Given the description of an element on the screen output the (x, y) to click on. 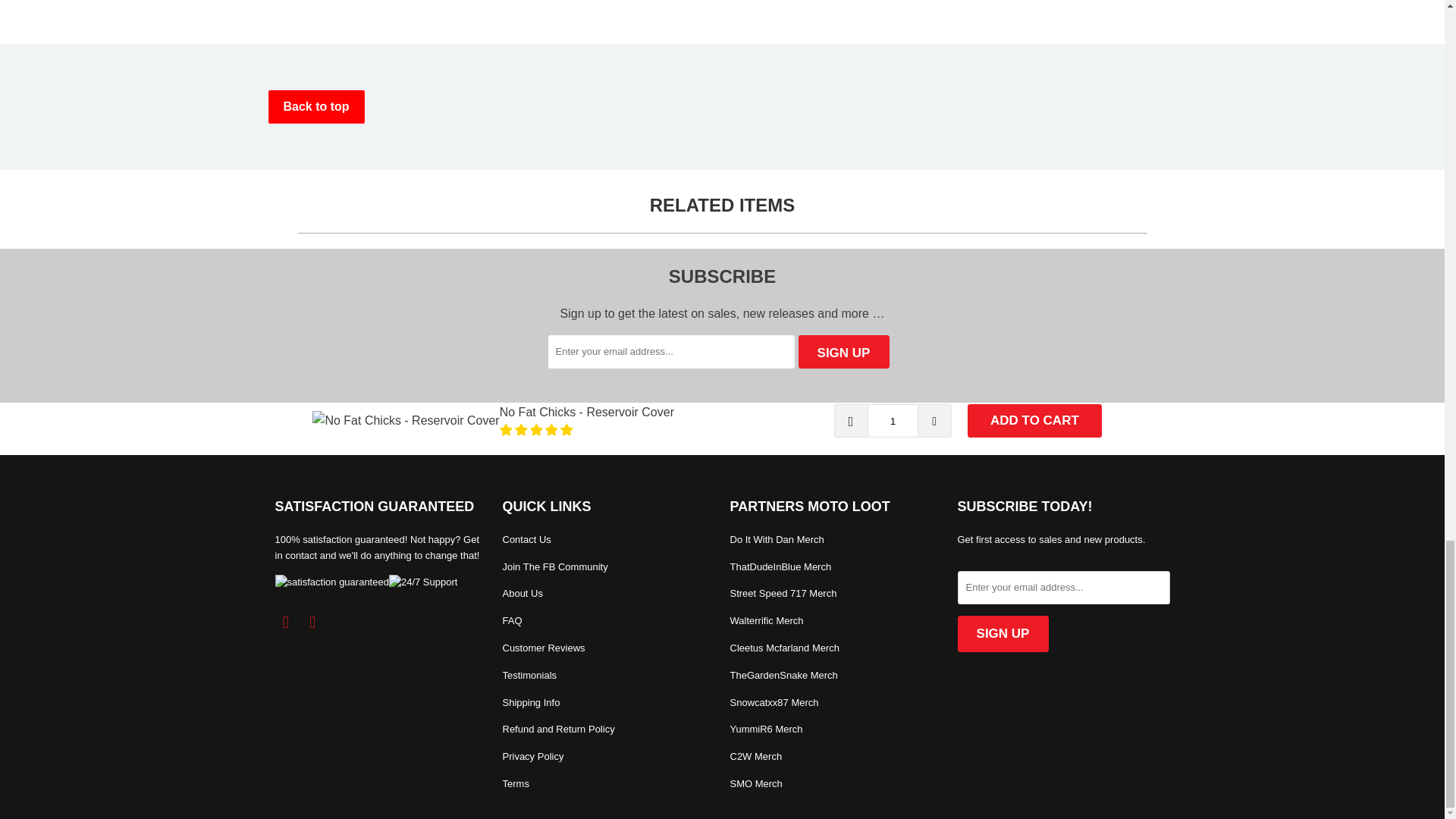
1 (892, 420)
Sign Up (1002, 633)
Sign Up (842, 351)
